Given the description of an element on the screen output the (x, y) to click on. 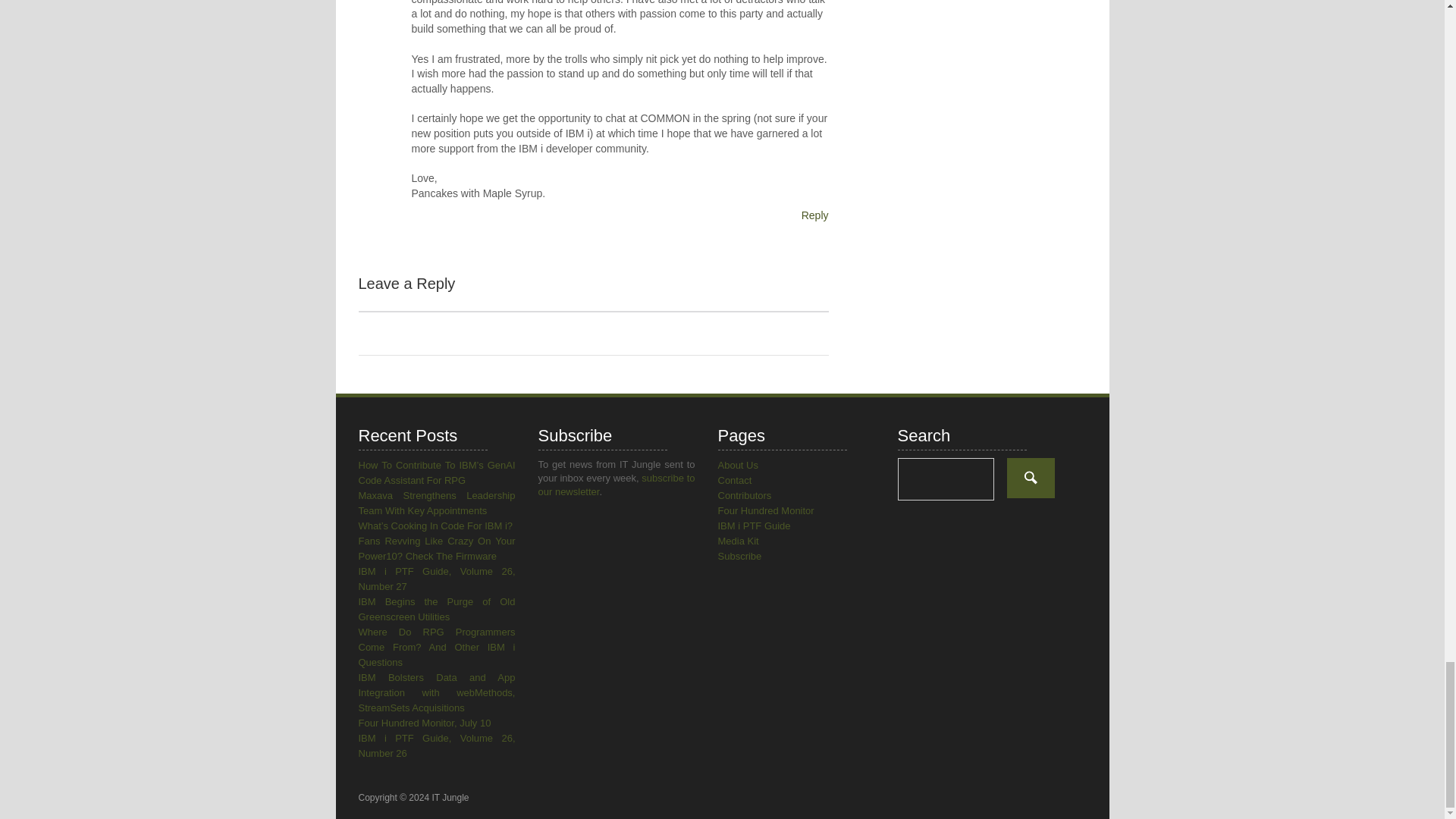
Search (1030, 477)
